Given the description of an element on the screen output the (x, y) to click on. 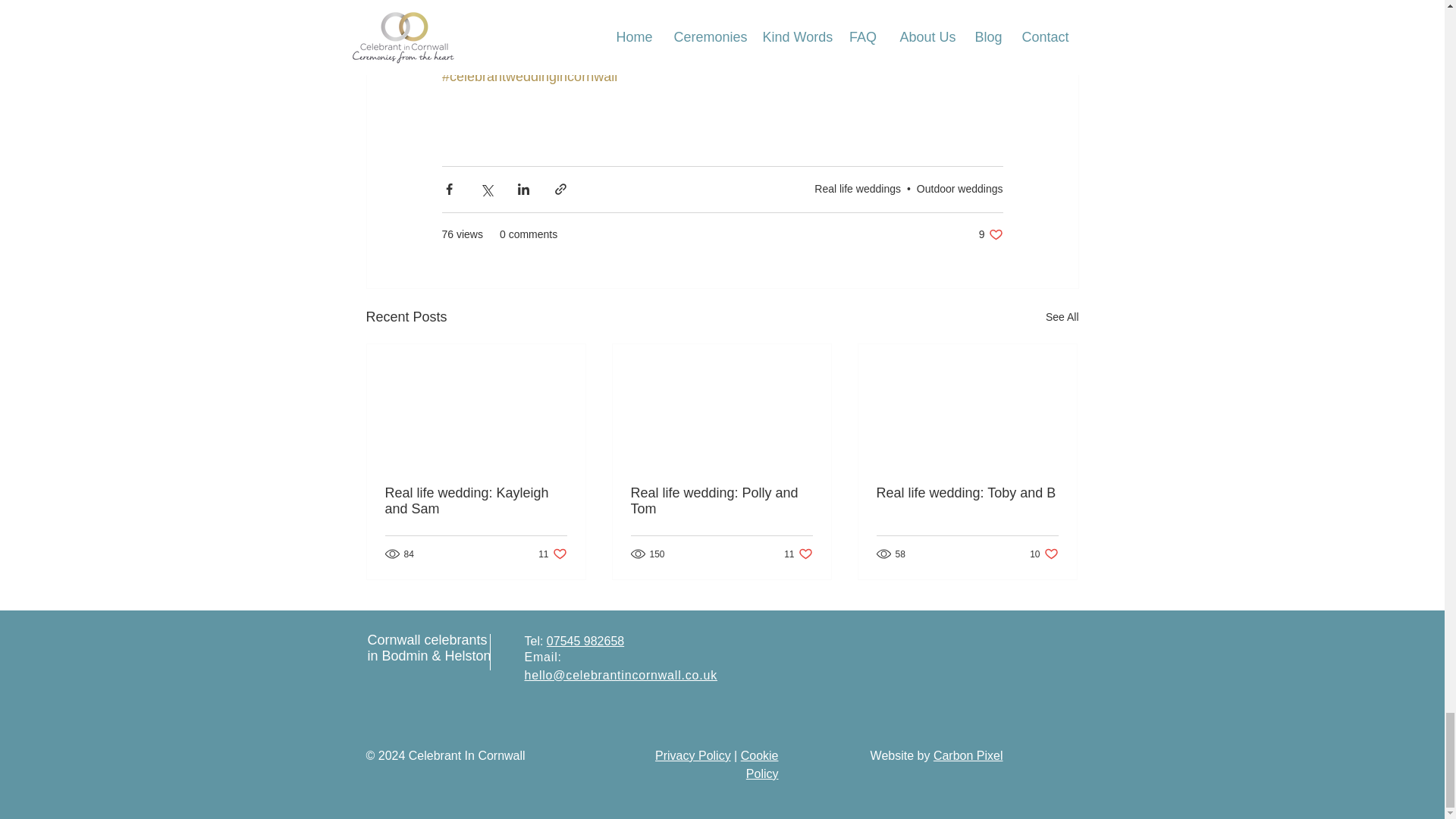
Real life wedding: Kayleigh and Sam (476, 500)
Real life weddings (552, 554)
See All (857, 188)
Real life wedding: Polly and Tom (990, 234)
Outdoor weddings (1061, 317)
